Given the description of an element on the screen output the (x, y) to click on. 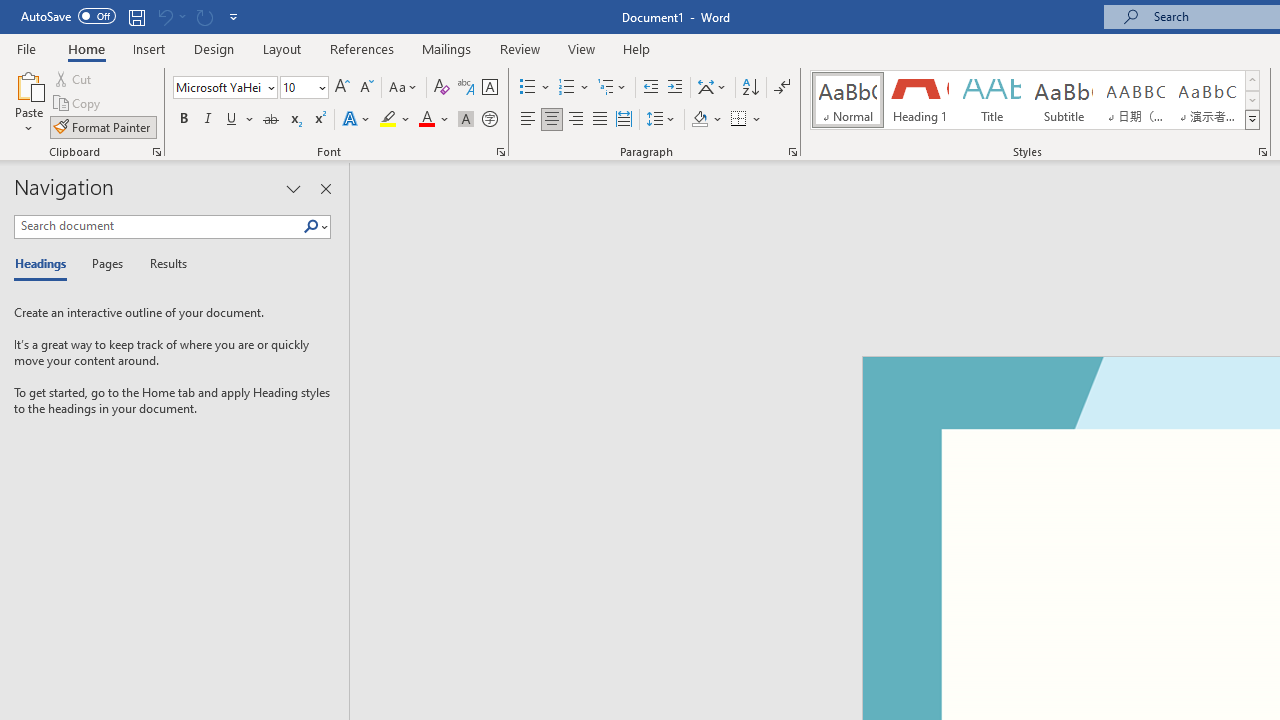
AutomationID: QuickStylesGallery (1035, 99)
Can't Repeat (204, 15)
Font Color (434, 119)
Enclose Characters... (489, 119)
Align Right (575, 119)
Text Highlight Color Yellow (388, 119)
Increase Indent (675, 87)
Font (218, 87)
File Tab (26, 48)
Pages (105, 264)
Justify (599, 119)
Headings (45, 264)
Search (311, 227)
Close pane (325, 188)
